Given the description of an element on the screen output the (x, y) to click on. 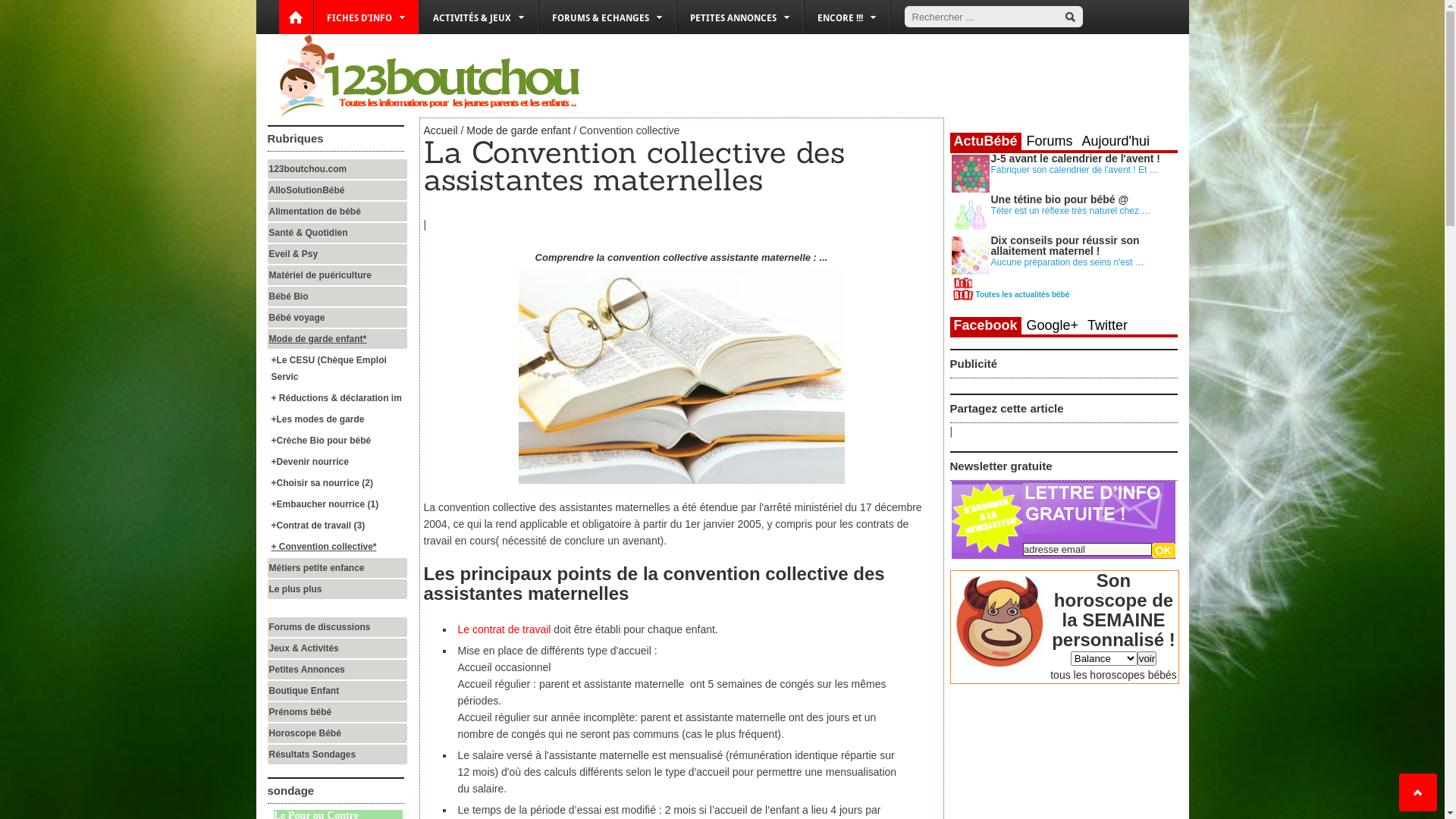
Aujourd'hui Element type: text (1116, 140)
+Les modes de garde Element type: text (337, 419)
Mode de garde enfant* Element type: text (336, 338)
+Choisir sa nourrice (2) Element type: text (337, 482)
FICHES D'INFO Element type: text (366, 17)
Mode de garde enfant Element type: text (518, 130)
voir Element type: text (1146, 658)
Forums Element type: text (1049, 140)
+Contrat de travail (3) Element type: text (337, 525)
Le plus plus Element type: text (336, 589)
Twitter Element type: text (1107, 324)
Search Element type: text (1068, 16)
FORUMS & ECHANGES Element type: text (606, 17)
123boutchou.com Element type: text (336, 168)
PETITES ANNONCES Element type: text (739, 17)
 O K  Element type: text (1163, 550)
Eveil & Psy Element type: text (336, 253)
+Devenir nourrice Element type: text (337, 461)
Accueil Element type: text (440, 130)
Petites Annonces Element type: text (336, 669)
Google+ Element type: text (1052, 324)
+ Convention collective* Element type: text (337, 546)
+Embaucher nourrice (1) Element type: text (337, 504)
Facebook Element type: text (984, 325)
ENCORE !!! Element type: text (846, 17)
Boutique Enfant Element type: text (336, 690)
Le contrat de travail Element type: text (504, 629)
Forums de discussions Element type: text (336, 627)
